Given the description of an element on the screen output the (x, y) to click on. 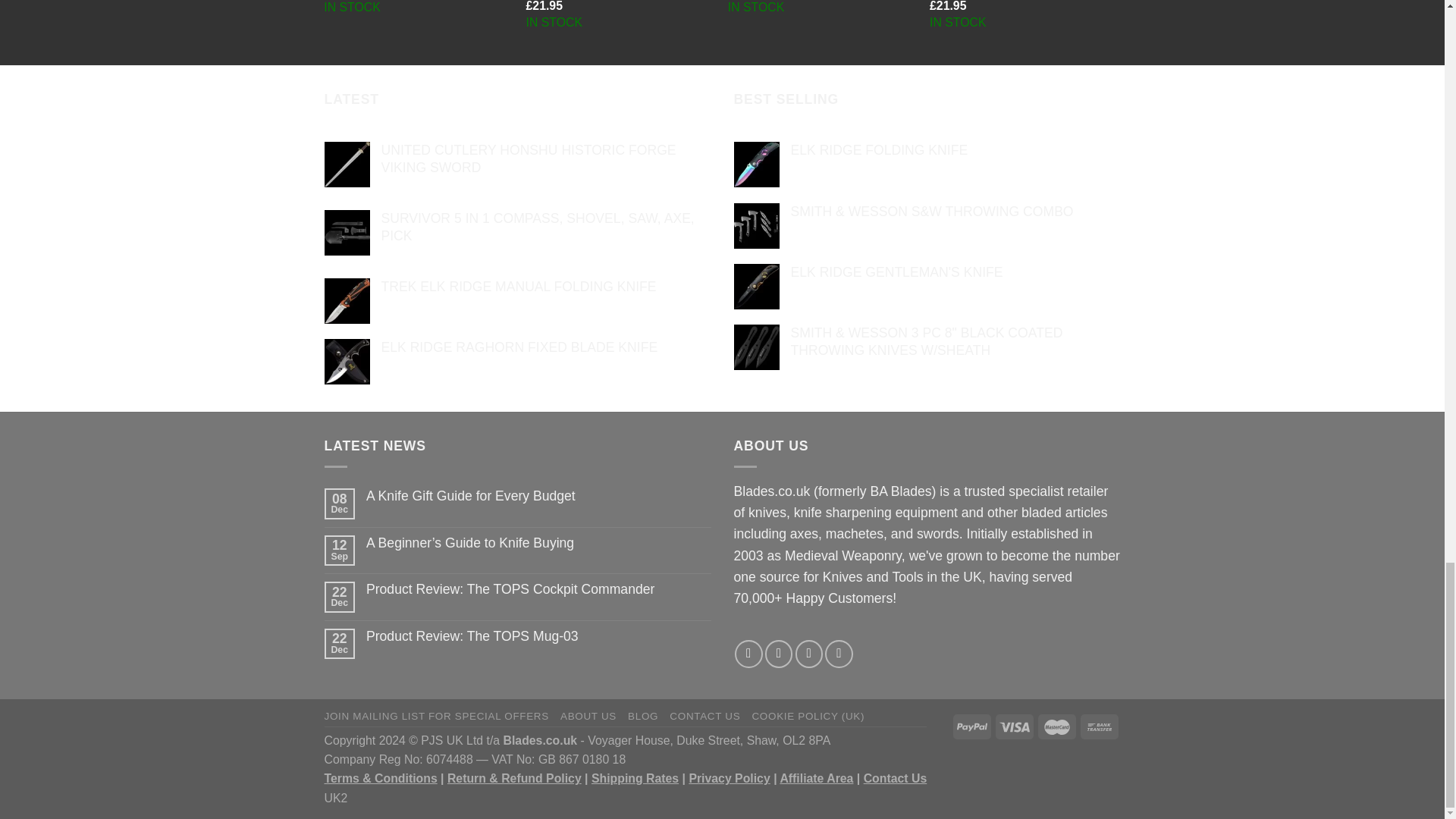
A Knife Gift Guide for Every Budget (538, 496)
